Given the description of an element on the screen output the (x, y) to click on. 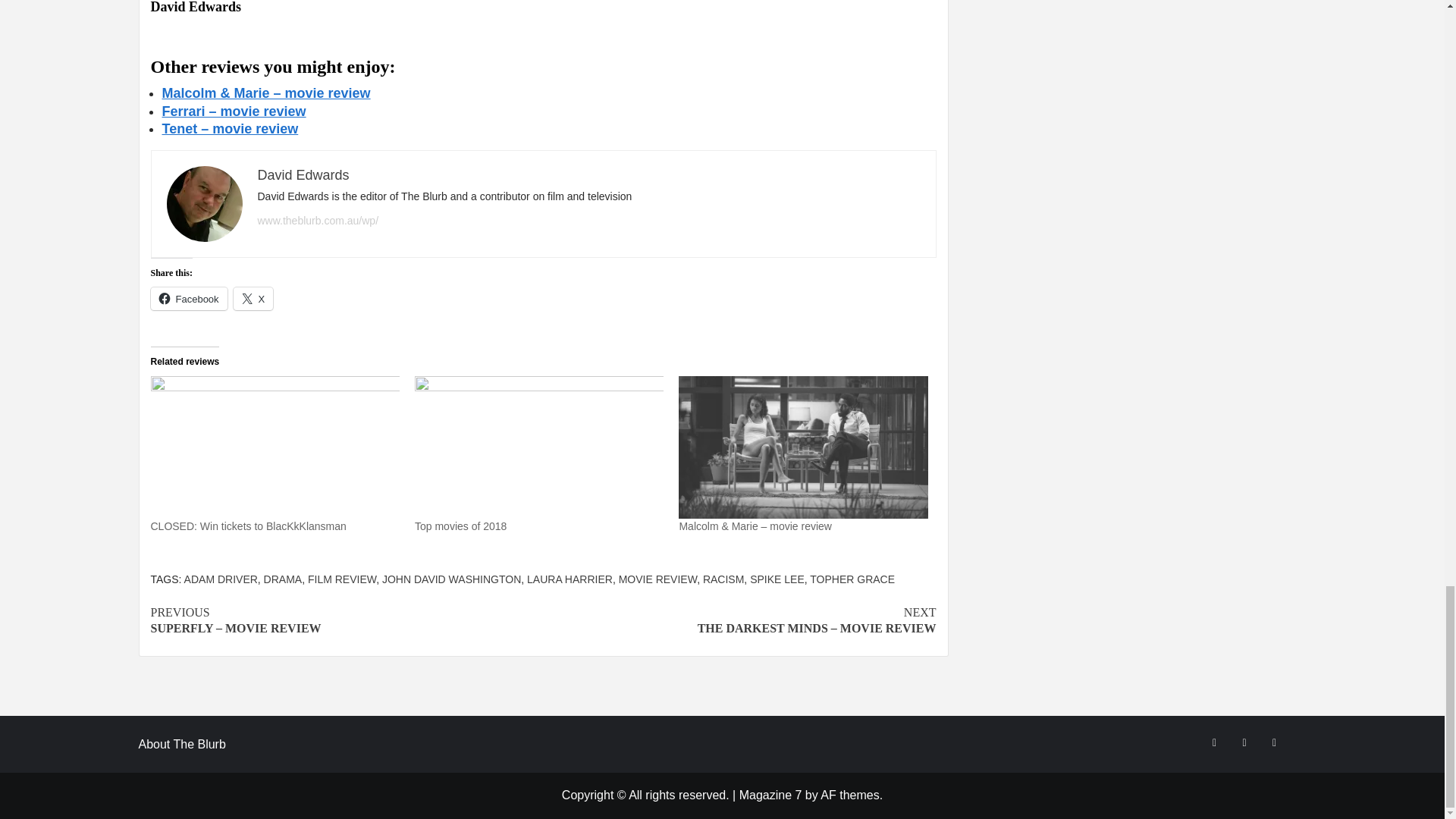
JOHN DAVID WASHINGTON (451, 579)
Top movies of 2018 (538, 446)
DRAMA (282, 579)
Click to share on X (252, 298)
CLOSED: Win tickets to BlacKkKlansman (247, 526)
SPIKE LEE (777, 579)
Top movies of 2018 (460, 526)
Click to share on Facebook (188, 298)
Facebook (188, 298)
MOVIE REVIEW (657, 579)
Top movies of 2018 (460, 526)
CLOSED: Win tickets to BlacKkKlansman (273, 446)
LAURA HARRIER (569, 579)
CLOSED: Win tickets to BlacKkKlansman (247, 526)
RACISM (723, 579)
